Given the description of an element on the screen output the (x, y) to click on. 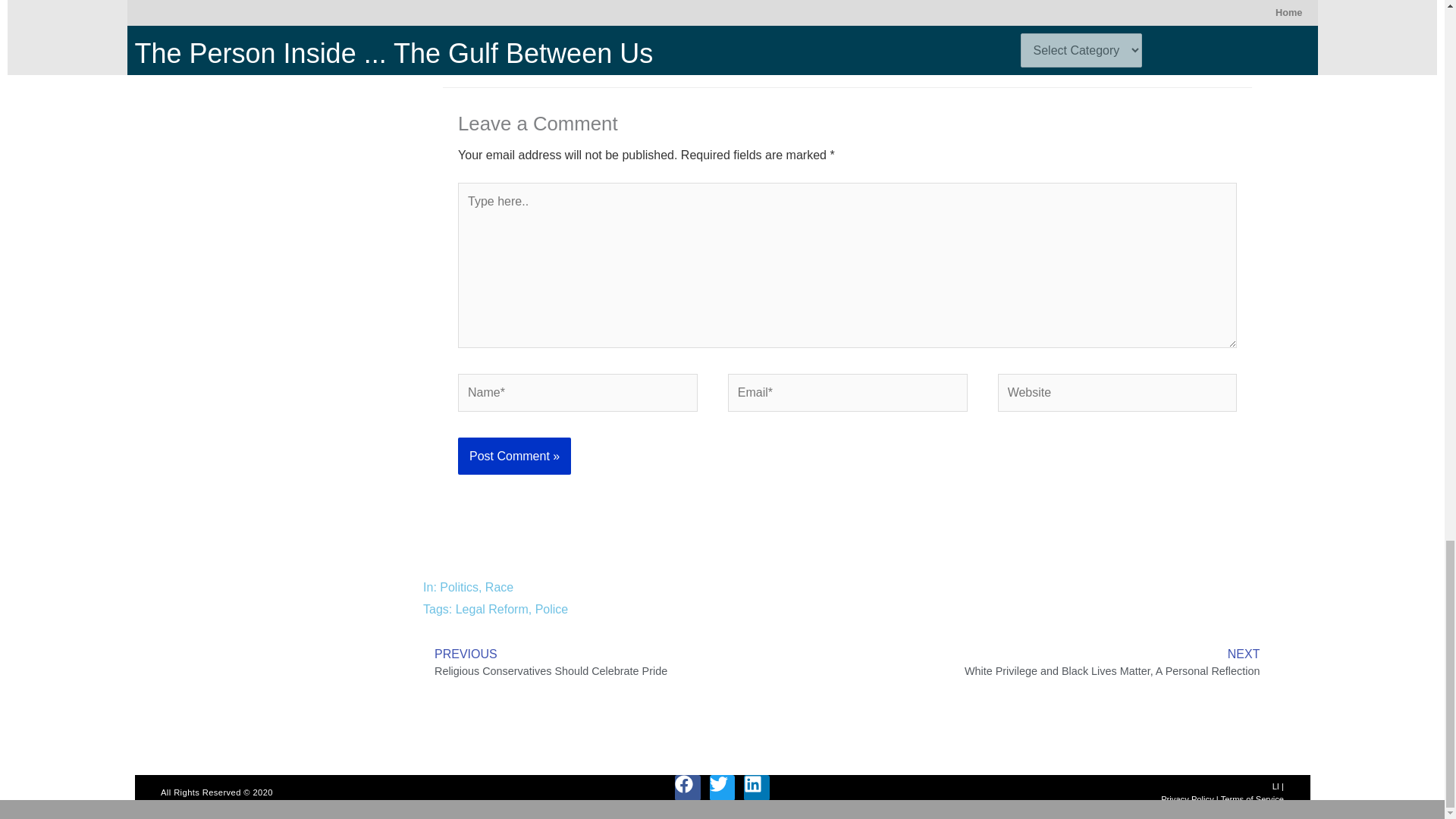
Share on Facebook (444, 2)
Share on Facebook Messenger (475, 2)
